Given the description of an element on the screen output the (x, y) to click on. 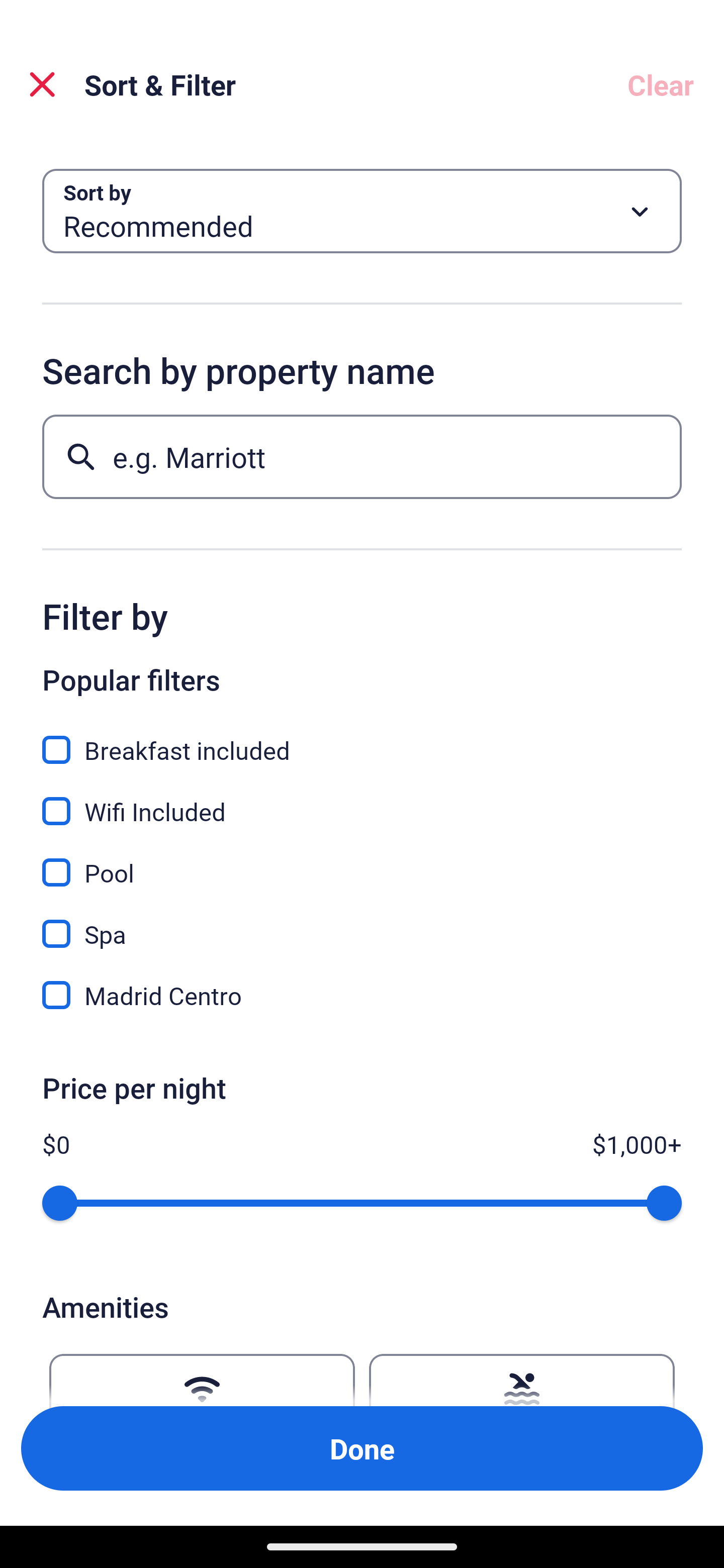
Close Sort and Filter (42, 84)
Clear (660, 84)
Sort by Button Recommended (361, 211)
e.g. Marriott Button (361, 455)
Breakfast included, Breakfast included (361, 738)
Wifi Included, Wifi Included (361, 800)
Pool, Pool (361, 861)
Spa, Spa (361, 922)
Madrid Centro, Madrid Centro (361, 995)
Apply and close Sort and Filter Done (361, 1448)
